Given the description of an element on the screen output the (x, y) to click on. 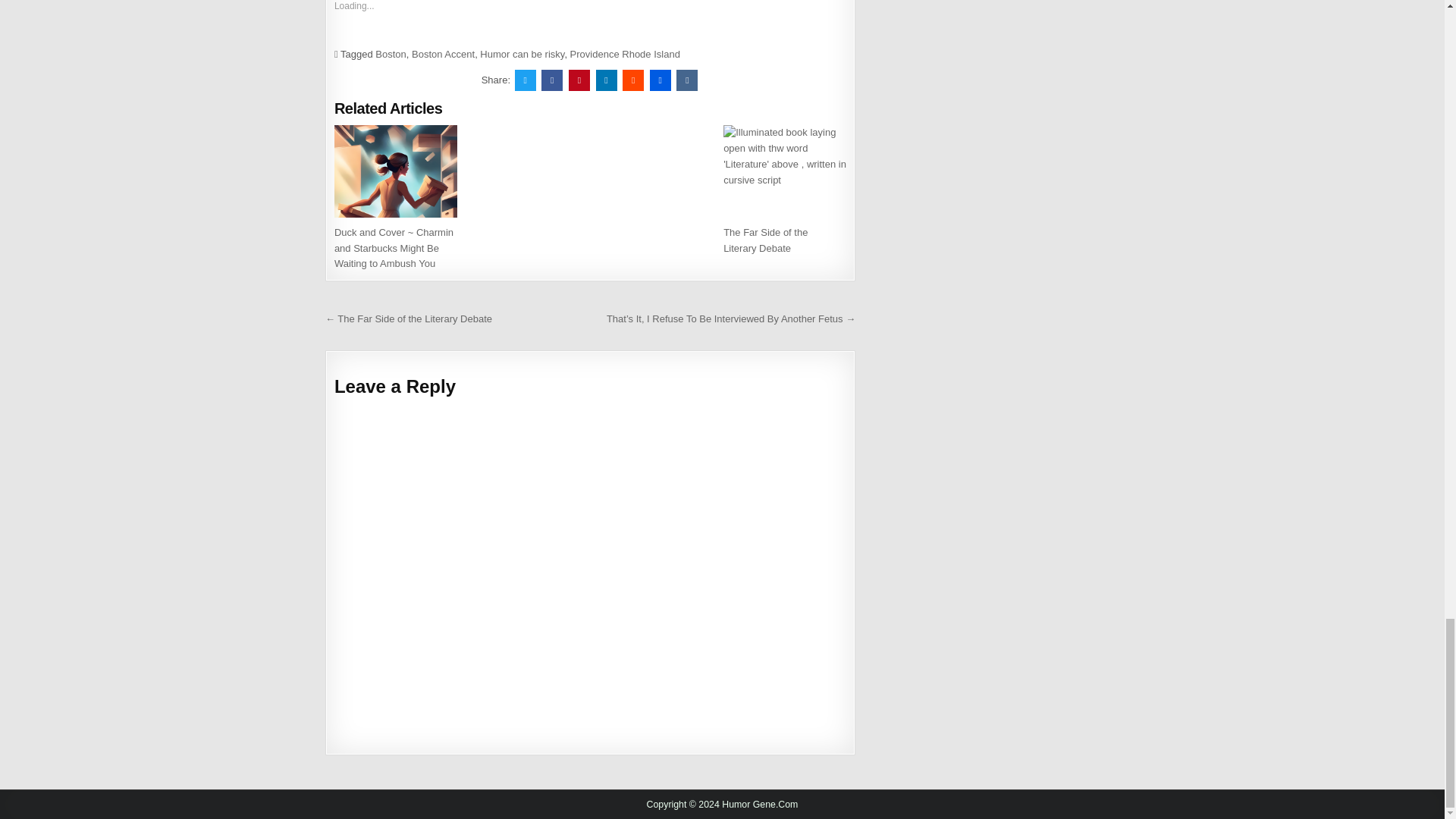
Share this on Linkedin (606, 79)
Humor can be risky (522, 53)
Tweet This! (525, 79)
Share this on Facebook (551, 79)
Boston (390, 53)
Boston Accent (443, 53)
Share this on Digg (660, 79)
Share this on VK (687, 79)
Share this on Reddit (633, 79)
Providence Rhode Island (624, 53)
Share this on Pinterest (579, 79)
